Given the description of an element on the screen output the (x, y) to click on. 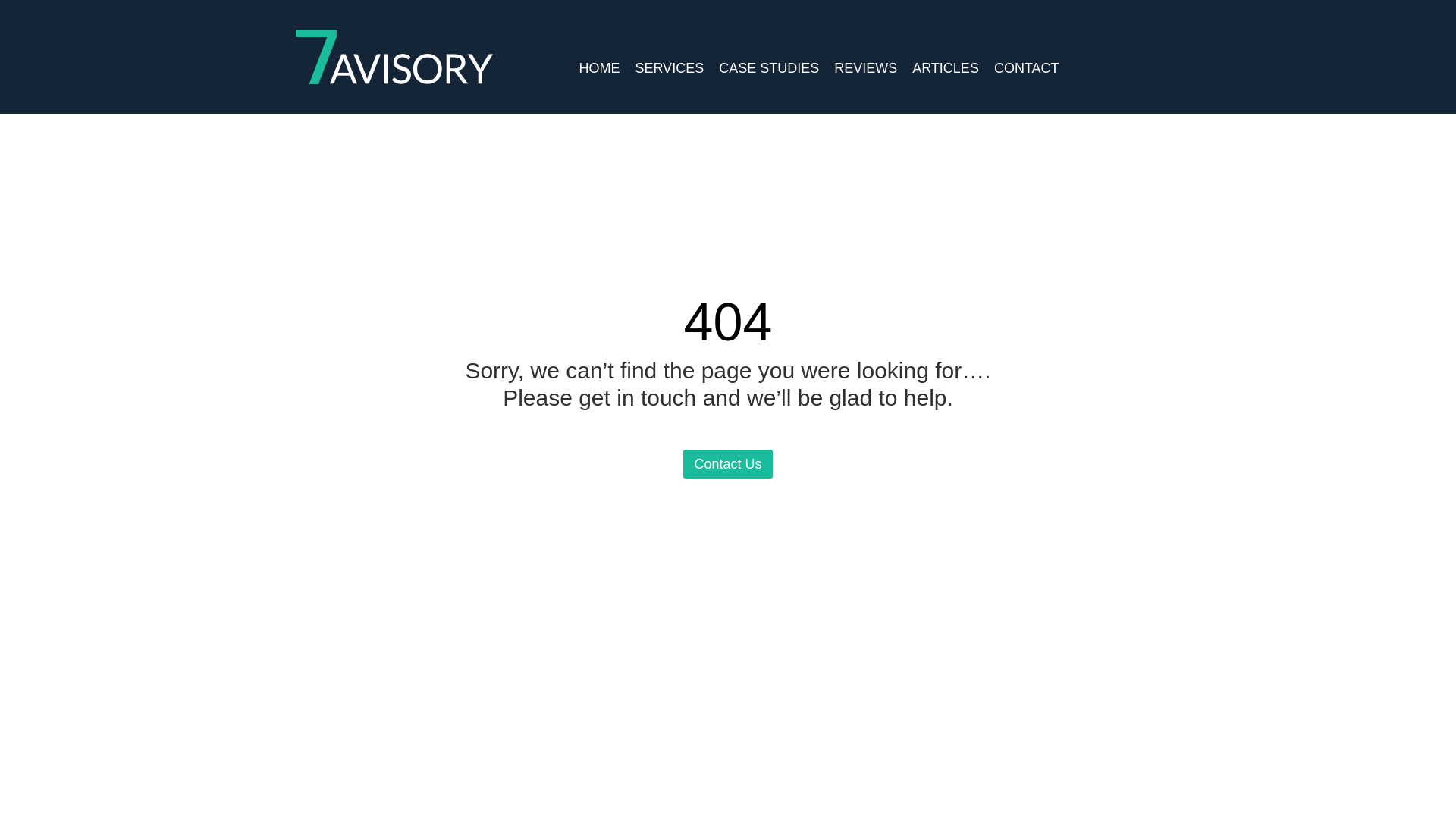
REVIEWS (873, 49)
ARTICLES (953, 49)
Contact Us (726, 463)
SERVICES (676, 49)
HOME (606, 49)
CONTACT (1034, 49)
CASE STUDIES (776, 49)
